Given the description of an element on the screen output the (x, y) to click on. 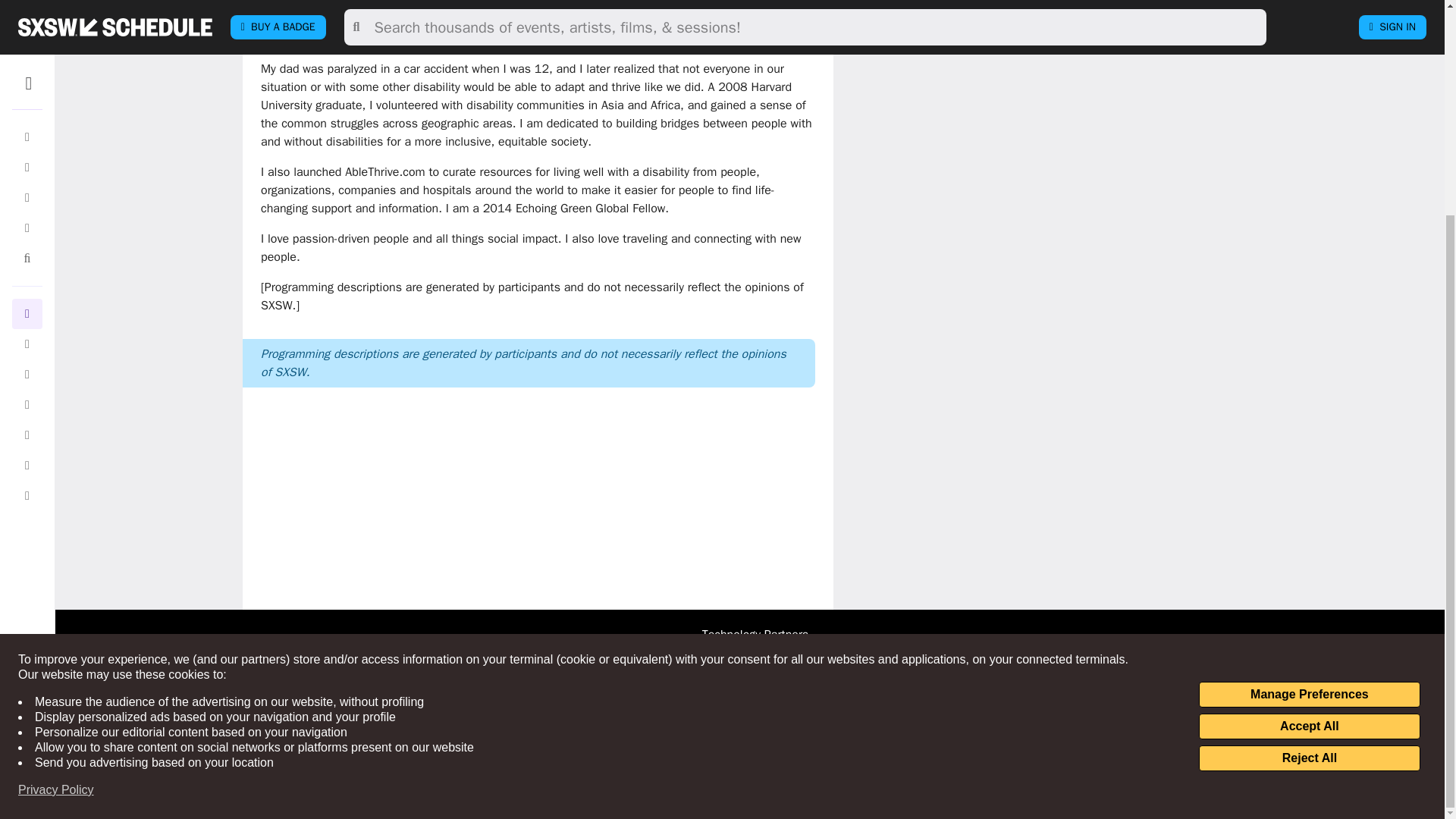
Reject All (1309, 475)
Accept All (1309, 444)
Manage Preferences (1309, 412)
Privacy Policy (55, 507)
